Given the description of an element on the screen output the (x, y) to click on. 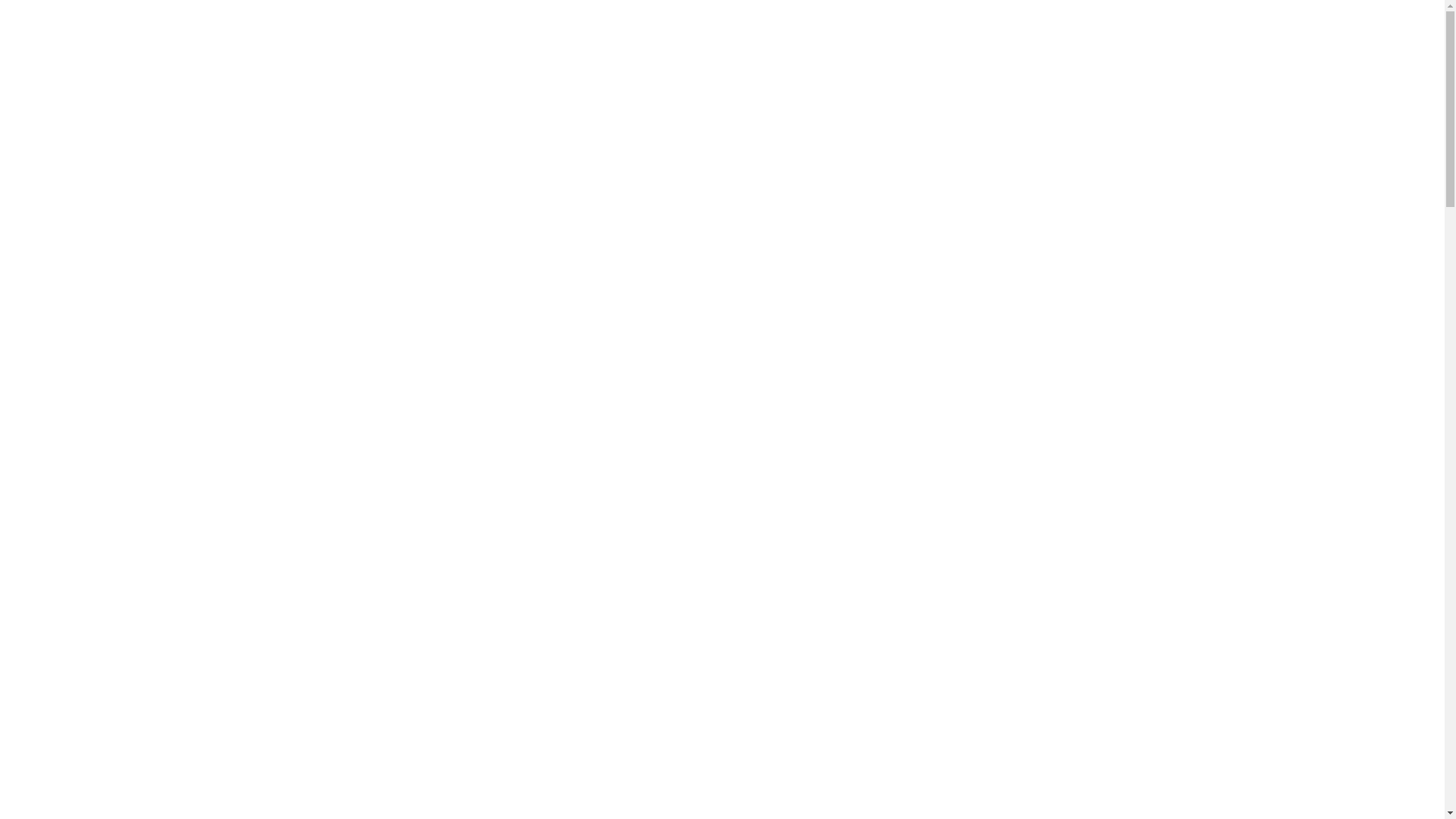
JUNIORS Element type: text (997, 444)
HEREN Element type: text (842, 444)
MERKEN Element type: text (67, 342)
CONTACT Element type: text (69, 533)
OVER ONS Element type: text (73, 260)
VACATURES Element type: text (76, 506)
CADEAUBON Element type: text (80, 288)
HOME Element type: text (60, 233)
HERENKLEDING Element type: text (90, 397)
HERENSCHOENEN Element type: text (96, 451)
American Jeansstore Element type: text (143, 106)
DAMESKLEDING Element type: text (90, 369)
NIEUWS Element type: text (66, 315)
KOOP NU JE CADEAUBON ONLINE! Element type: text (1242, 774)
DAMES Element type: text (695, 444)
